Given the description of an element on the screen output the (x, y) to click on. 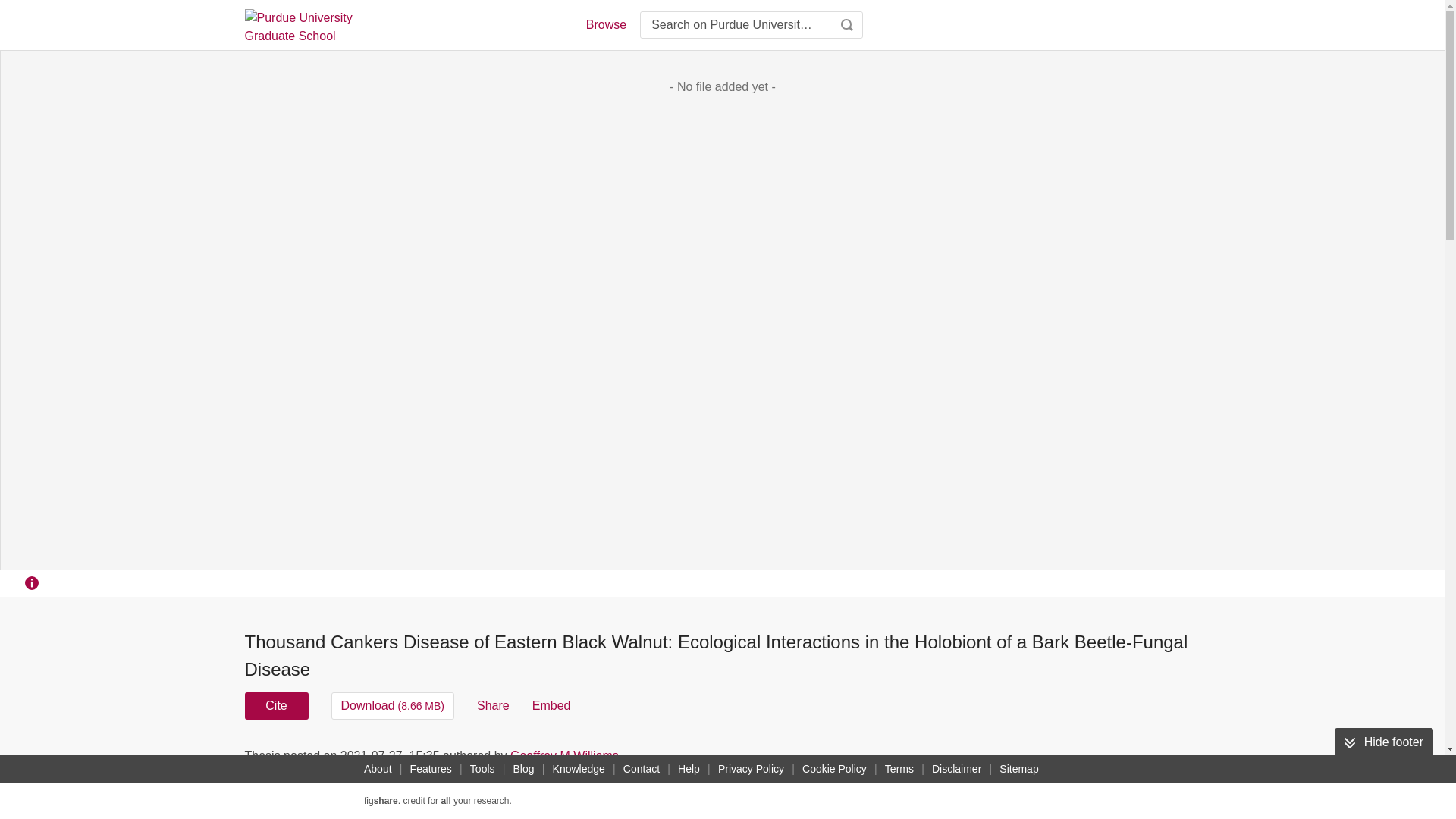
Cite (275, 705)
Share (493, 705)
Geoffrey M Williams (564, 755)
USAGE METRICS (976, 759)
Browse (605, 24)
Embed (551, 705)
